Given the description of an element on the screen output the (x, y) to click on. 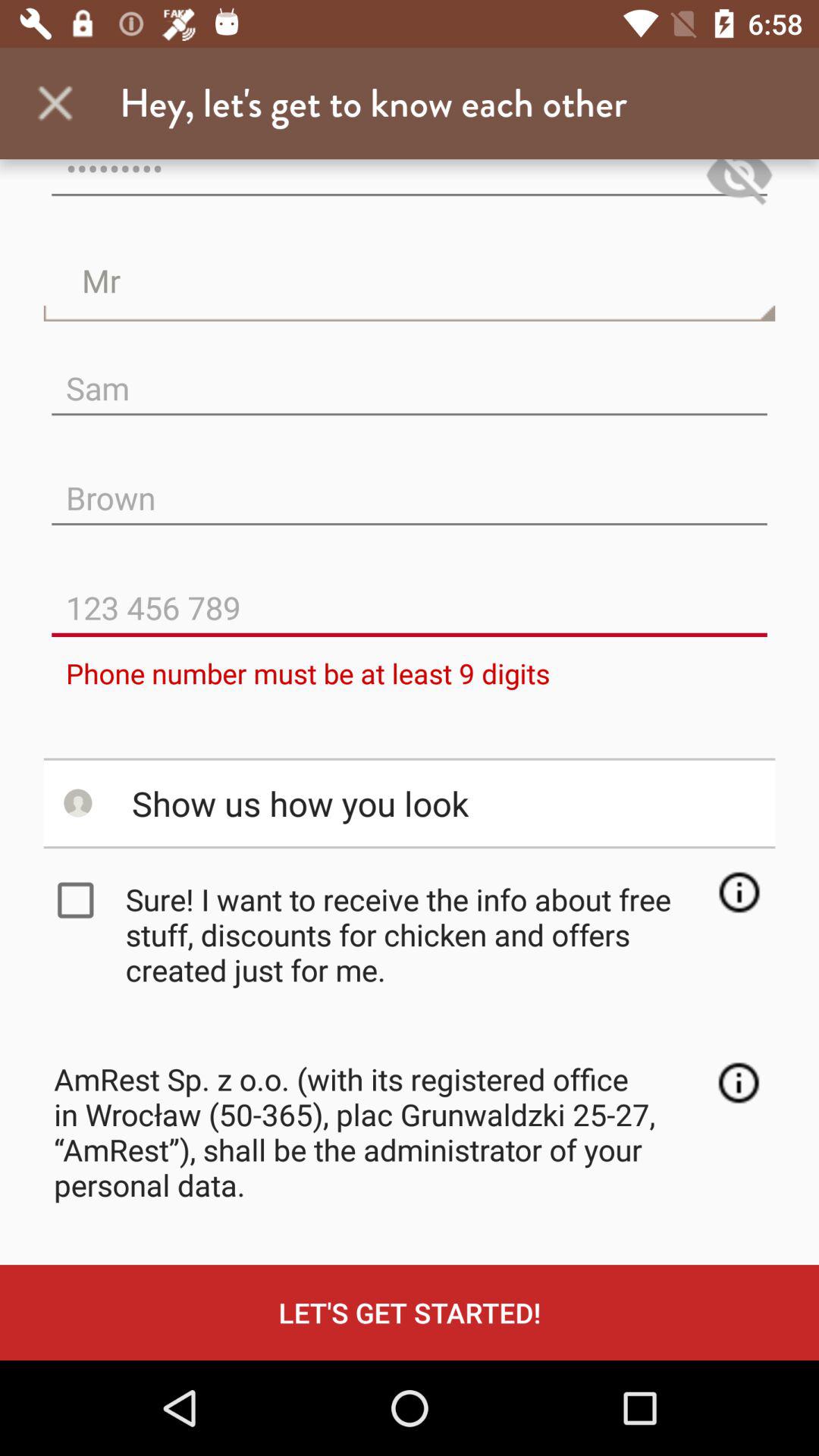
press the icon above let s get (738, 1082)
